Given the description of an element on the screen output the (x, y) to click on. 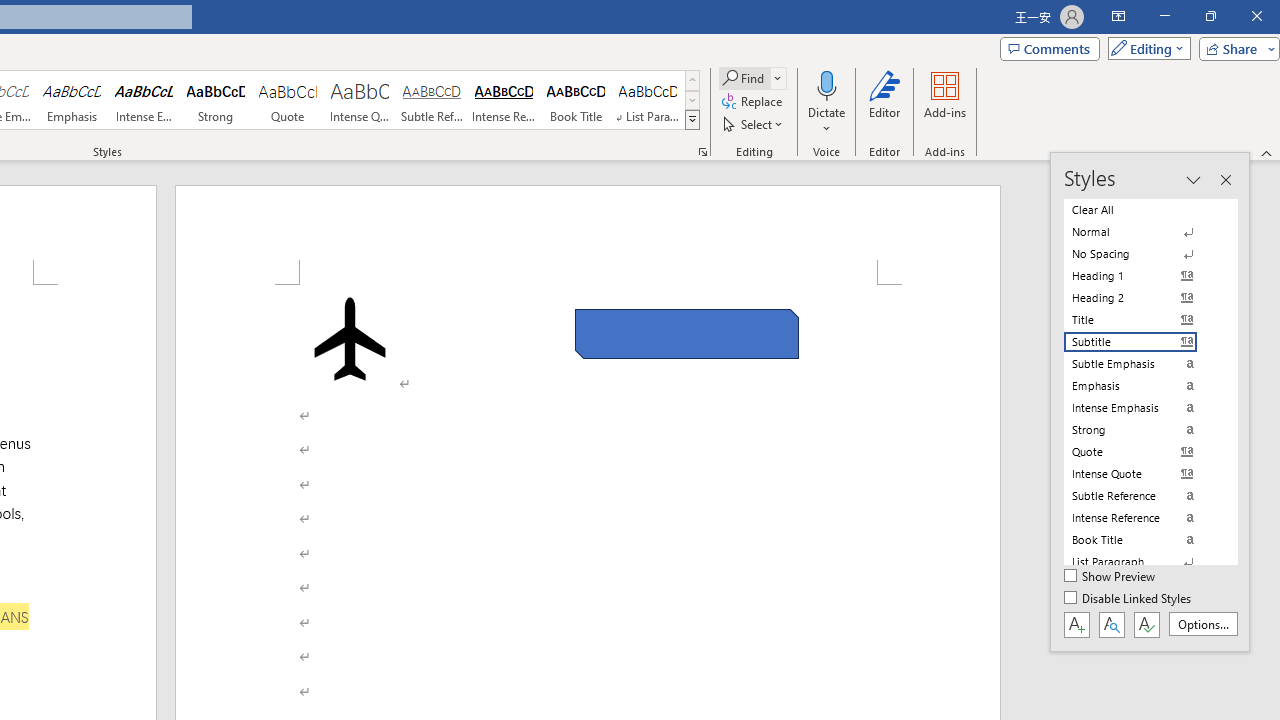
Class: NetUIButton (1146, 624)
Strong (216, 100)
Subtle Emphasis (1142, 363)
Subtle Reference (431, 100)
Heading 2 (1142, 297)
Clear All (1142, 209)
